Given the description of an element on the screen output the (x, y) to click on. 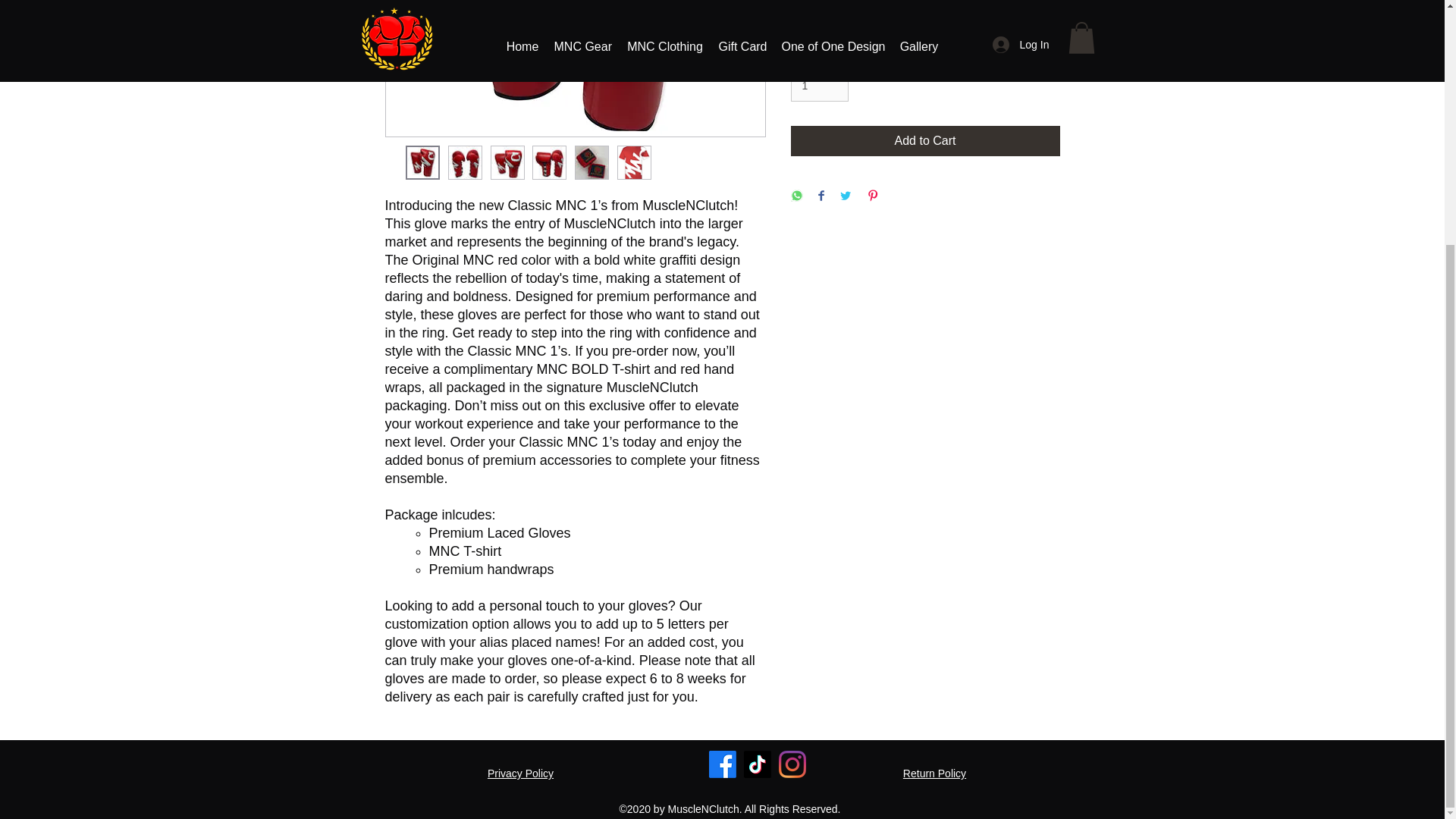
Privacy Policy (520, 773)
Return Policy (934, 773)
Select (924, 19)
1 (818, 85)
Add to Cart (924, 141)
